Given the description of an element on the screen output the (x, y) to click on. 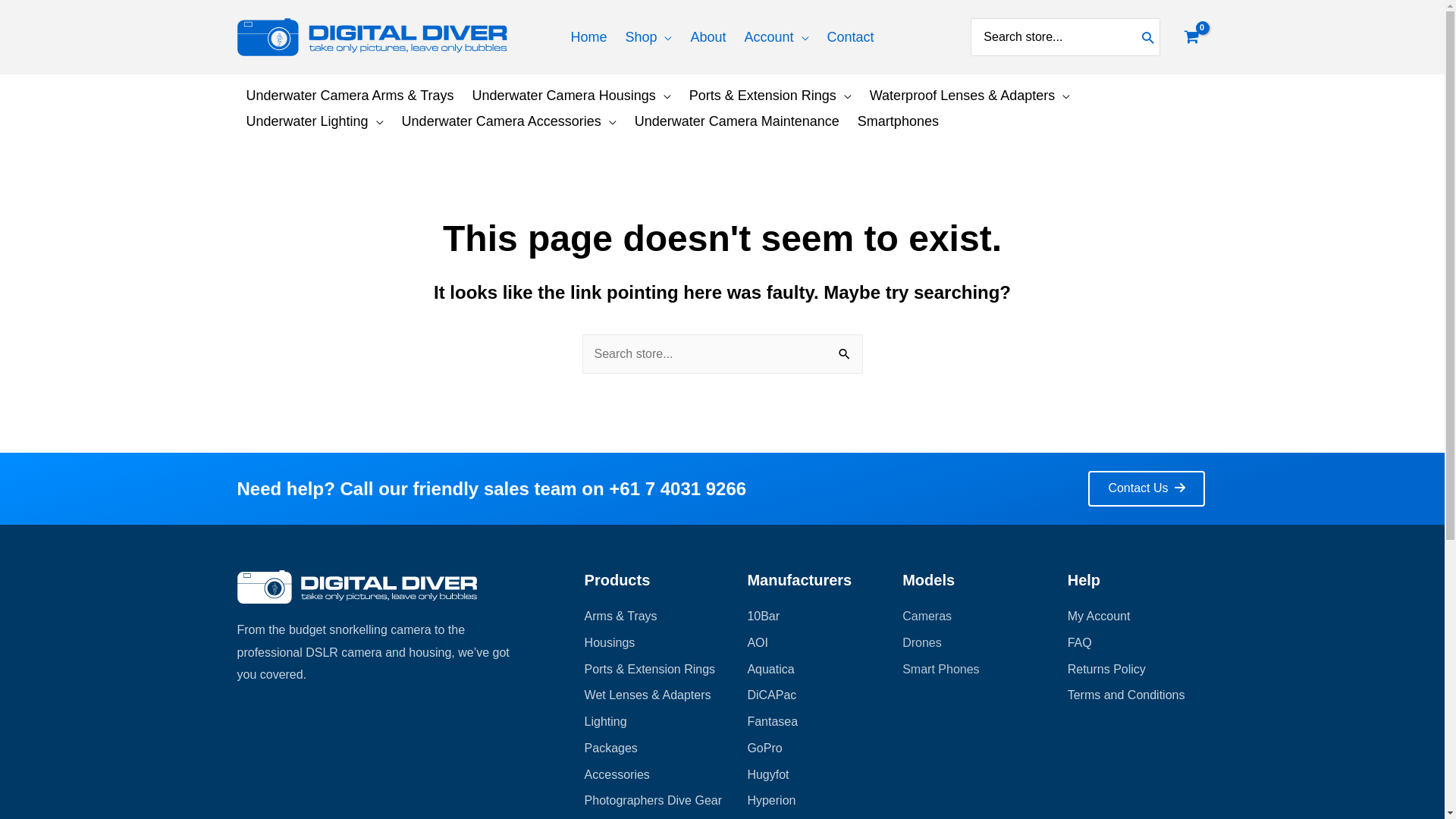
Wet Lenses & Adapters Element type: text (654, 695)
Terms and Conditions Element type: text (1137, 695)
Accessories Element type: text (654, 774)
FAQ Element type: text (1137, 642)
Smartphones Element type: text (897, 121)
Contact Element type: text (850, 36)
View your shopping cart Element type: hover (1191, 36)
Arms & Trays Element type: text (654, 616)
Drones Element type: text (973, 642)
Underwater Camera Housings Element type: text (571, 95)
Hugyfot Element type: text (816, 774)
10Bar Element type: text (816, 616)
My Account Element type: text (1137, 616)
Packages Element type: text (654, 748)
Aquatica Element type: text (816, 669)
Home Element type: text (588, 36)
Shop Element type: text (647, 36)
Photographers Dive Gear Element type: text (654, 800)
Ports & Extension Rings Element type: text (770, 95)
Contact Us Element type: text (1146, 488)
Waterproof Lenses & Adapters Element type: text (969, 95)
Housings Element type: text (654, 642)
Cameras Element type: text (973, 616)
Returns Policy Element type: text (1137, 669)
Underwater Camera Maintenance Element type: text (736, 121)
GoPro Element type: text (816, 748)
Underwater Lighting Element type: text (314, 121)
Search Element type: text (1147, 36)
Underwater Camera Accessories Element type: text (508, 121)
AOI Element type: text (816, 642)
Search Element type: text (845, 352)
DiCAPac Element type: text (816, 695)
Lighting Element type: text (654, 721)
About Element type: text (707, 36)
Underwater Camera Arms & Trays Element type: text (349, 95)
Ports & Extension Rings Element type: text (654, 669)
Smart Phones Element type: text (973, 669)
Account Element type: text (776, 36)
Fantasea Element type: text (816, 721)
Hyperion Element type: text (816, 800)
